Given the description of an element on the screen output the (x, y) to click on. 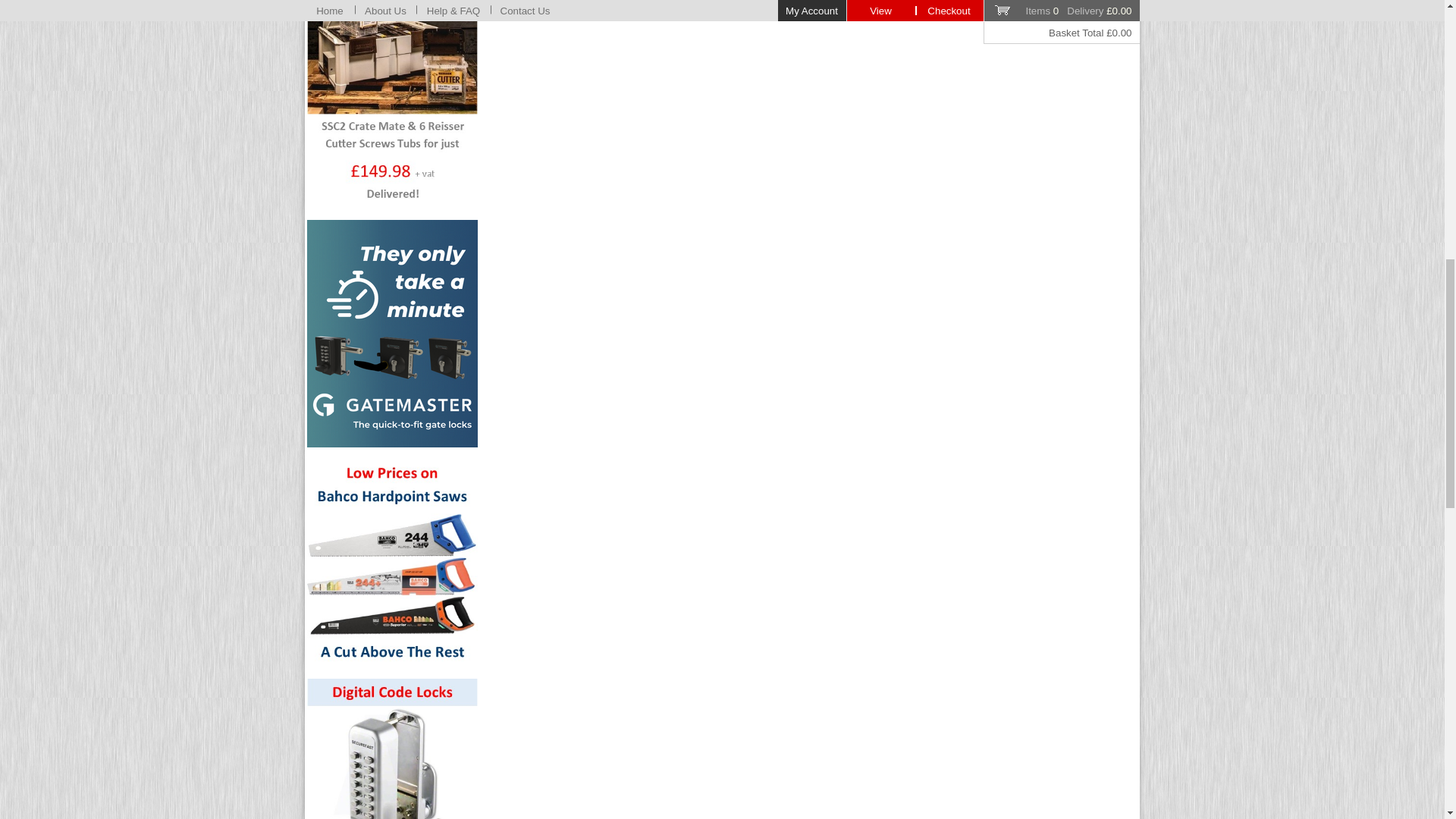
Securefast Digital Code Locks. (392, 748)
Bahco Hardpoint Saws. (392, 562)
Gatemaster Metal Gate Locks. (392, 333)
